Given the description of an element on the screen output the (x, y) to click on. 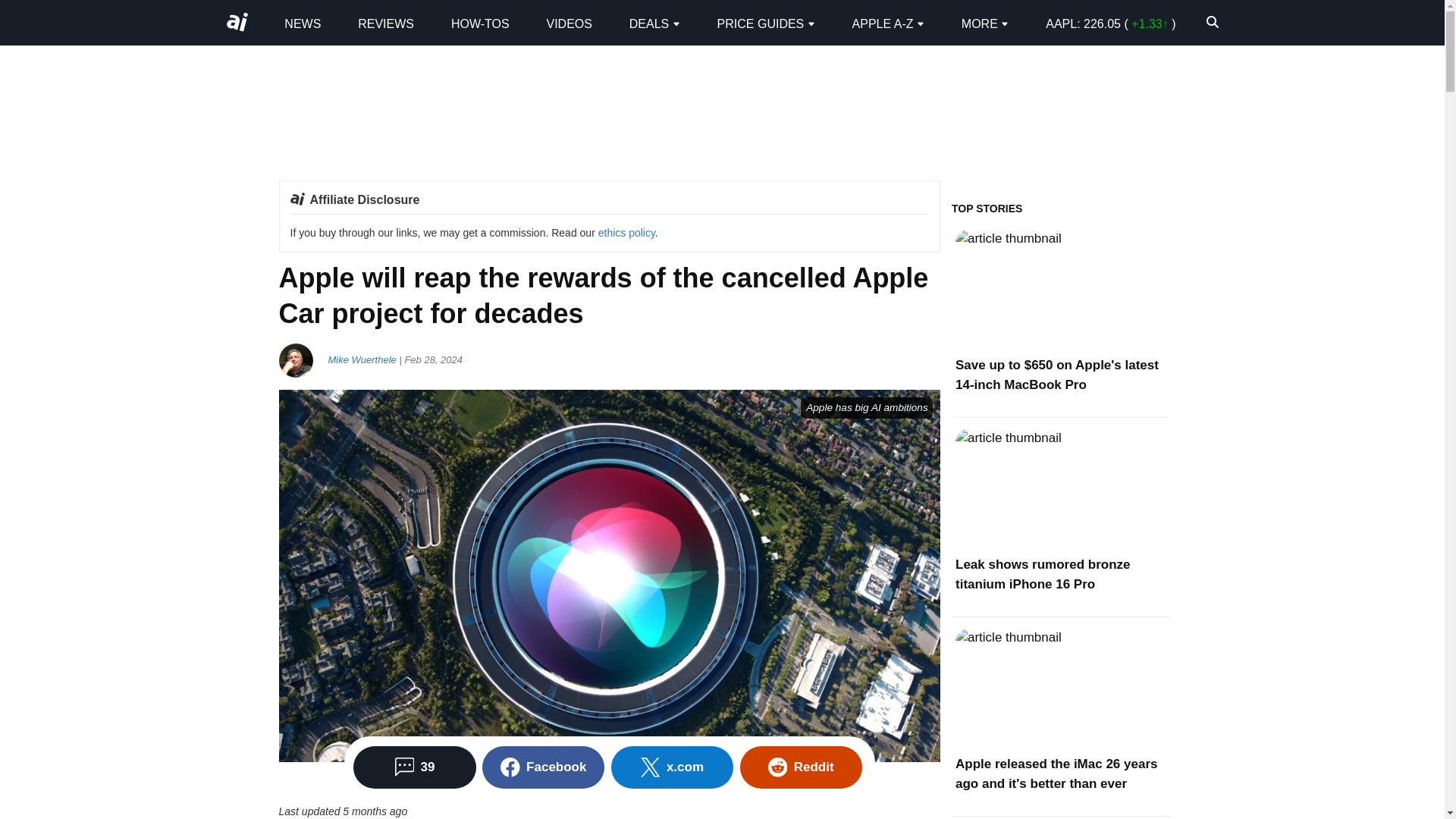
REVIEWS (385, 23)
NEWS (301, 23)
News (301, 23)
HOW-TOS (480, 23)
Reviews (385, 23)
Videos (568, 23)
How-Tos (480, 23)
VIDEOS (568, 23)
